Given the description of an element on the screen output the (x, y) to click on. 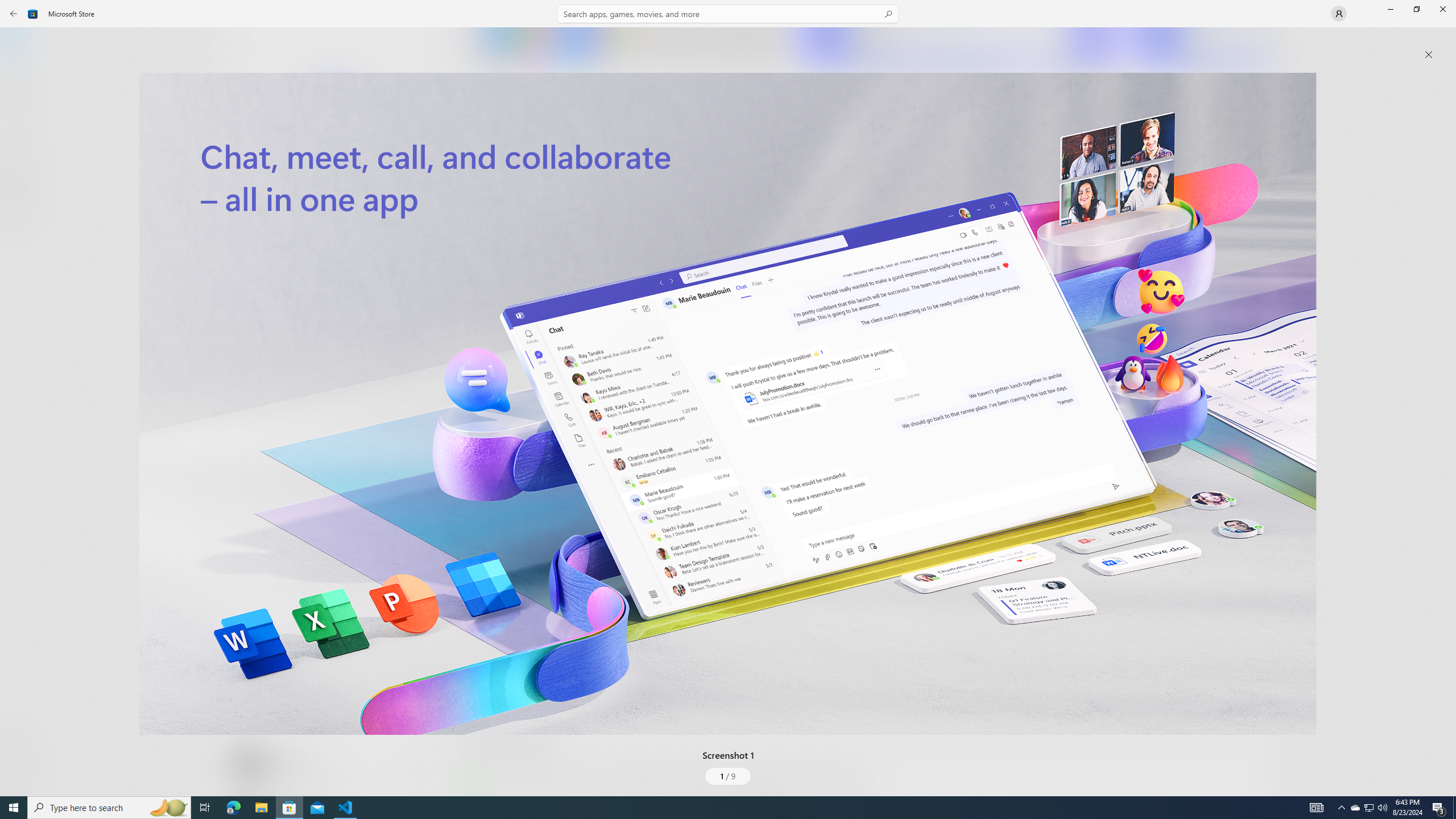
Show less (482, 703)
Share (424, 769)
Screenshot 1 (727, 403)
Gaming (20, 115)
AI Hub (20, 221)
Home (20, 45)
Library (20, 773)
What's New (20, 738)
Restore Microsoft Store (1416, 9)
Class: Image (727, 403)
Search (727, 13)
Age rating: EVERYONE. Click for more information. (287, 762)
Show more (485, 793)
Productivity (329, 426)
2.6 stars. Click to skip to ratings and reviews (307, 309)
